Given the description of an element on the screen output the (x, y) to click on. 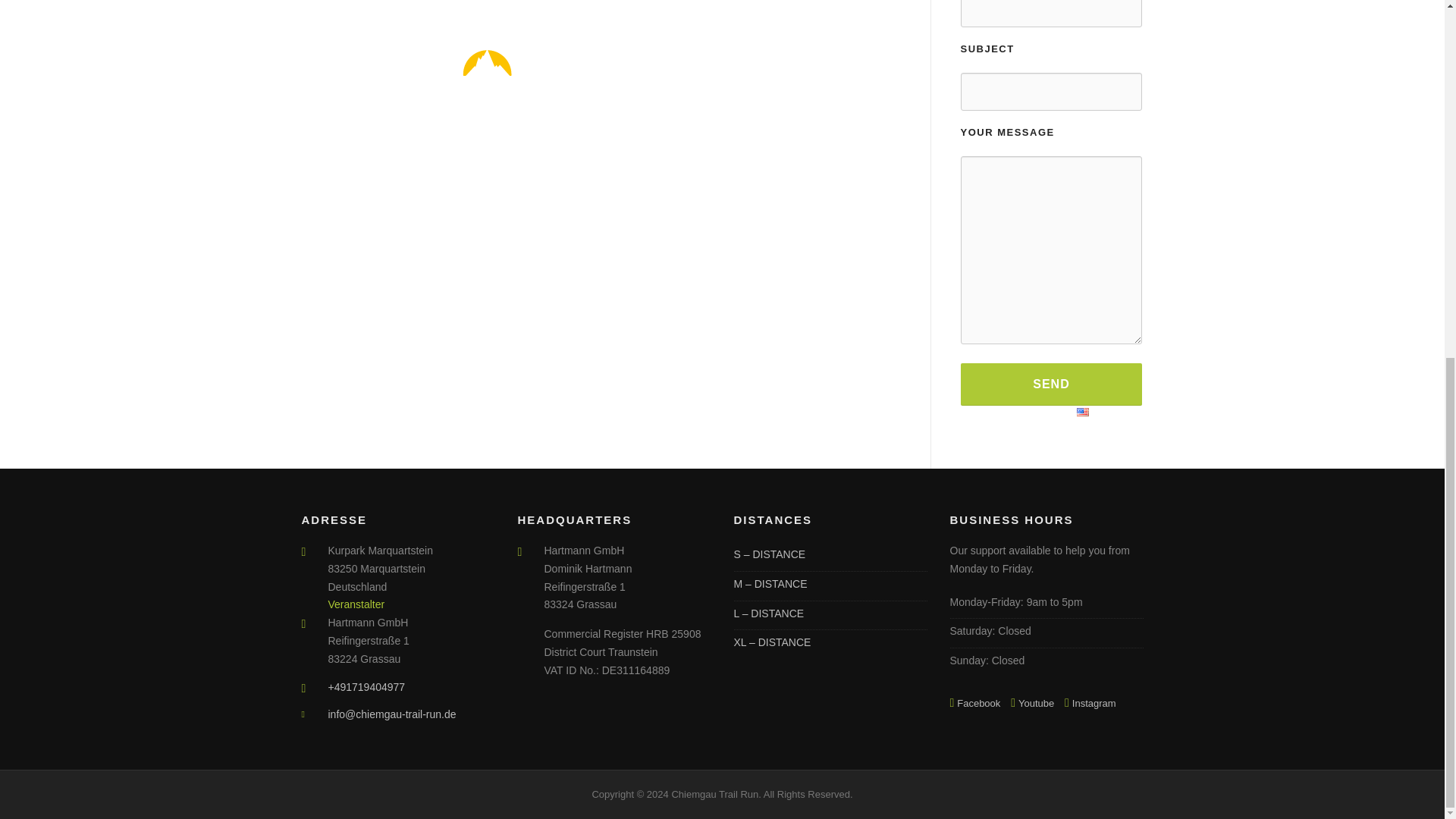
Youtube (1035, 703)
Send (1050, 384)
Instagram (1093, 703)
Facebook (978, 703)
Send (1050, 384)
